Given the description of an element on the screen output the (x, y) to click on. 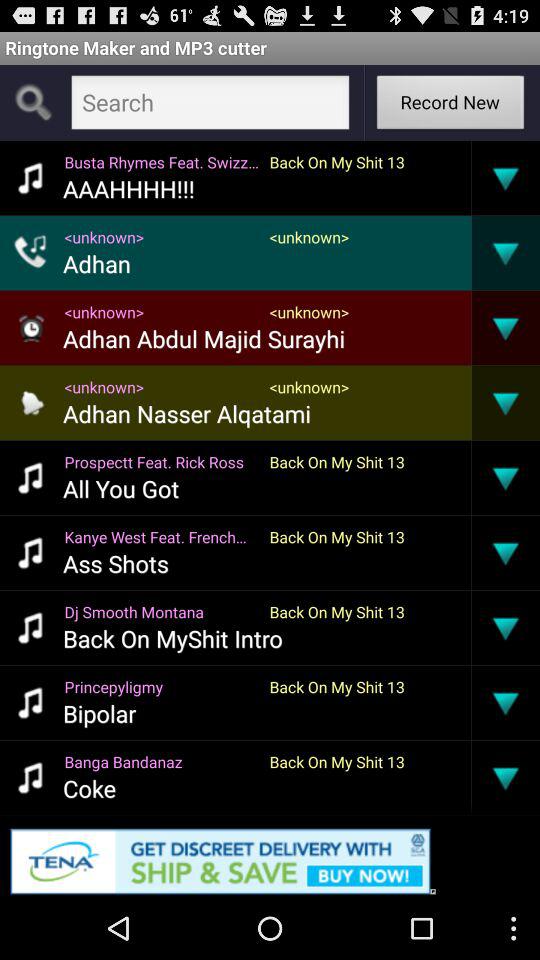
choose the app below the busta rhymes feat (128, 188)
